Given the description of an element on the screen output the (x, y) to click on. 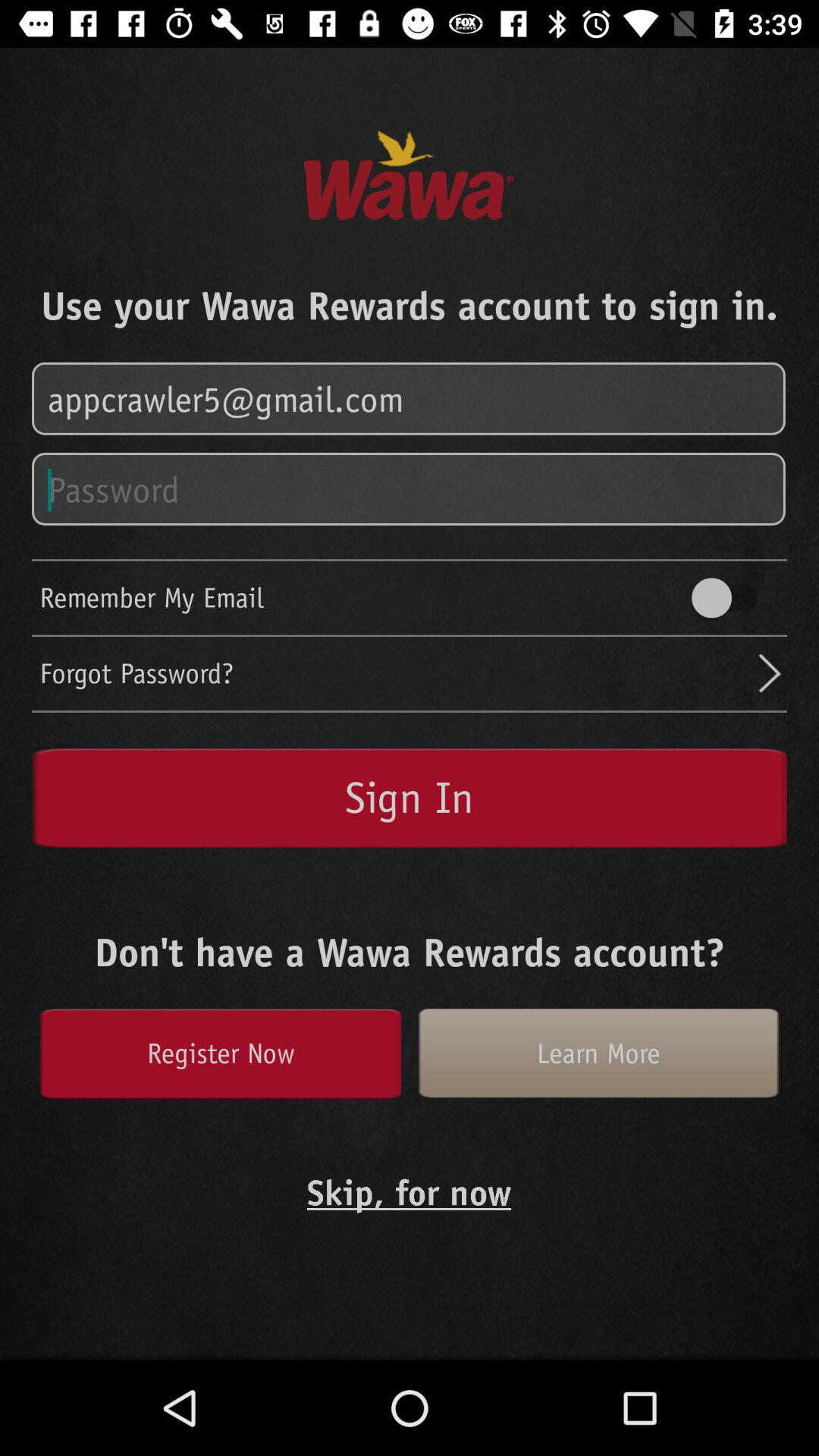
jump to the forgot password? icon (396, 673)
